Given the description of an element on the screen output the (x, y) to click on. 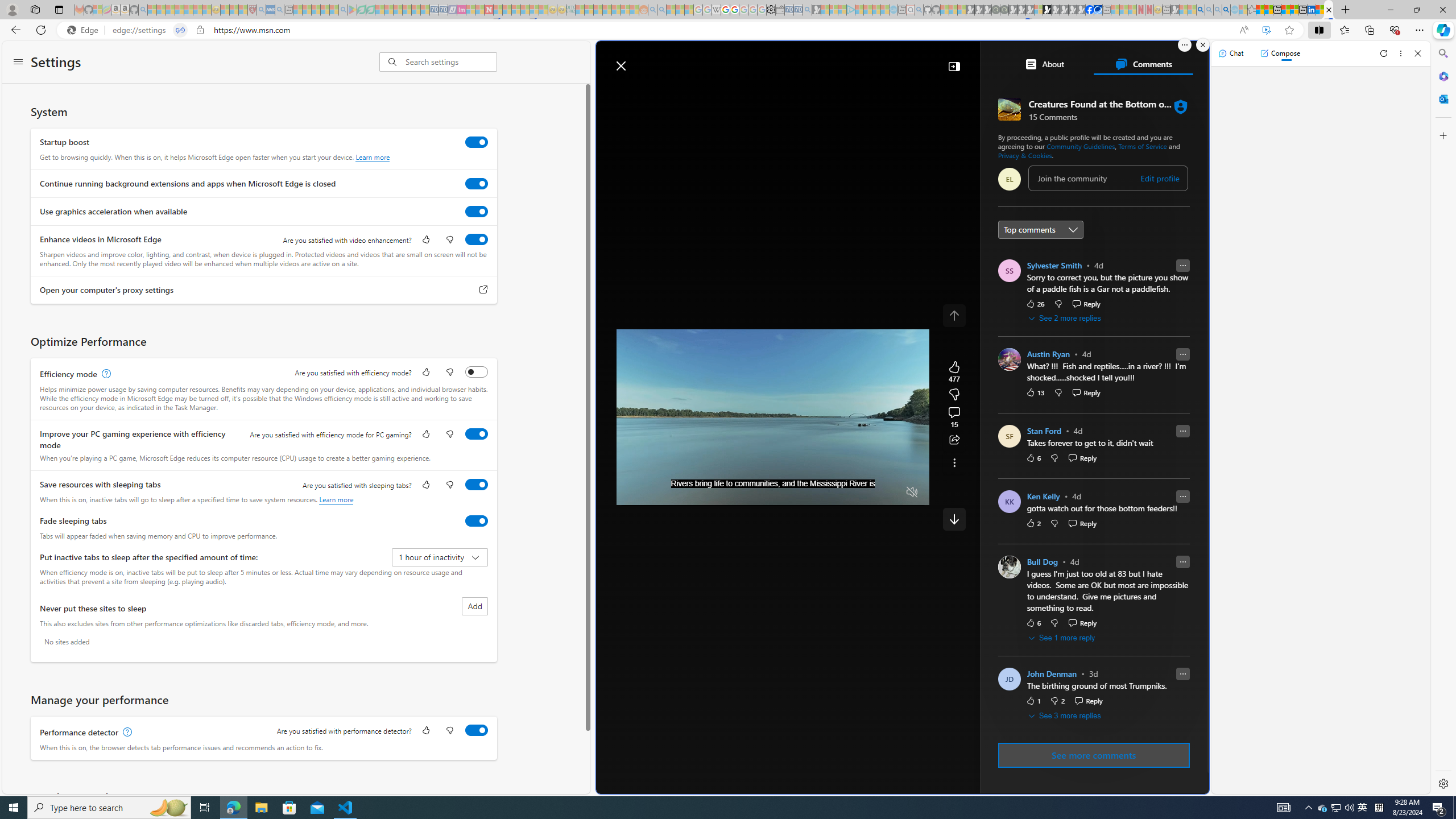
Creatures Found at the Bottom of the Mississippi River (1328, 9)
Efficiency mode, learn more (104, 374)
Bing AI - Search (1200, 9)
Report comment (1181, 673)
Fullscreen (890, 492)
comment-box (1107, 177)
